Given the description of an element on the screen output the (x, y) to click on. 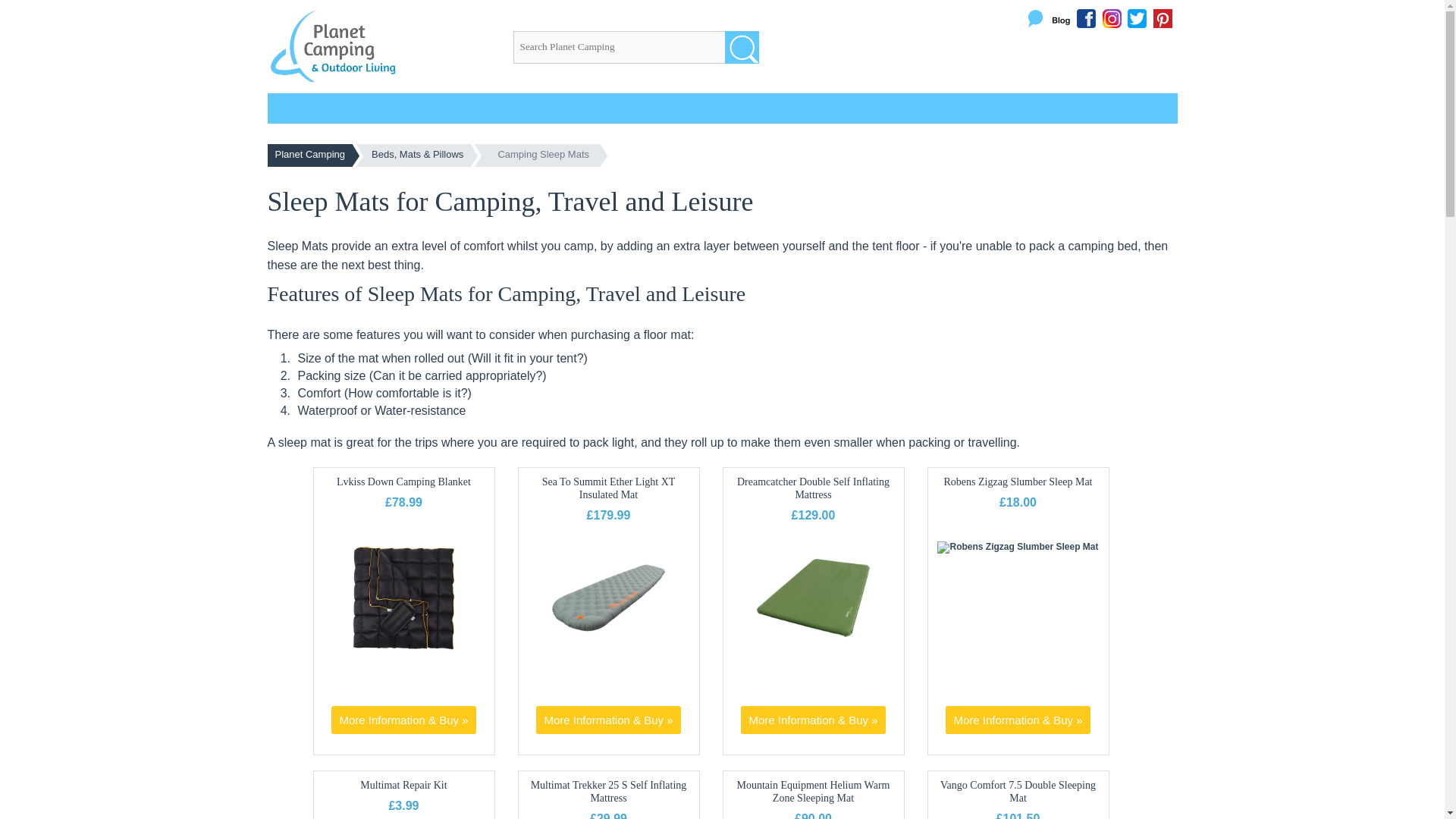
More info on Sea To Summit Ether Light XT Insulated Mat (607, 719)
More info on Dreamcatcher Double Self Inflating Mattress (812, 487)
More info on Lvkiss Down Camping Blanket (403, 651)
More info on Lvkiss Down Camping Blanket (403, 719)
More info on Multimat Trekker 25 S Self Inflating Mattress  (609, 791)
More info on Robens Zigzag Slumber Sleep Mat (1018, 481)
More info on Multimat Repair Kit (402, 785)
Planet Camping (309, 155)
More info on Dreamcatcher Double Self Inflating Mattress (813, 651)
More info on Robens Zigzag Slumber Sleep Mat (1016, 719)
